Given the description of an element on the screen output the (x, y) to click on. 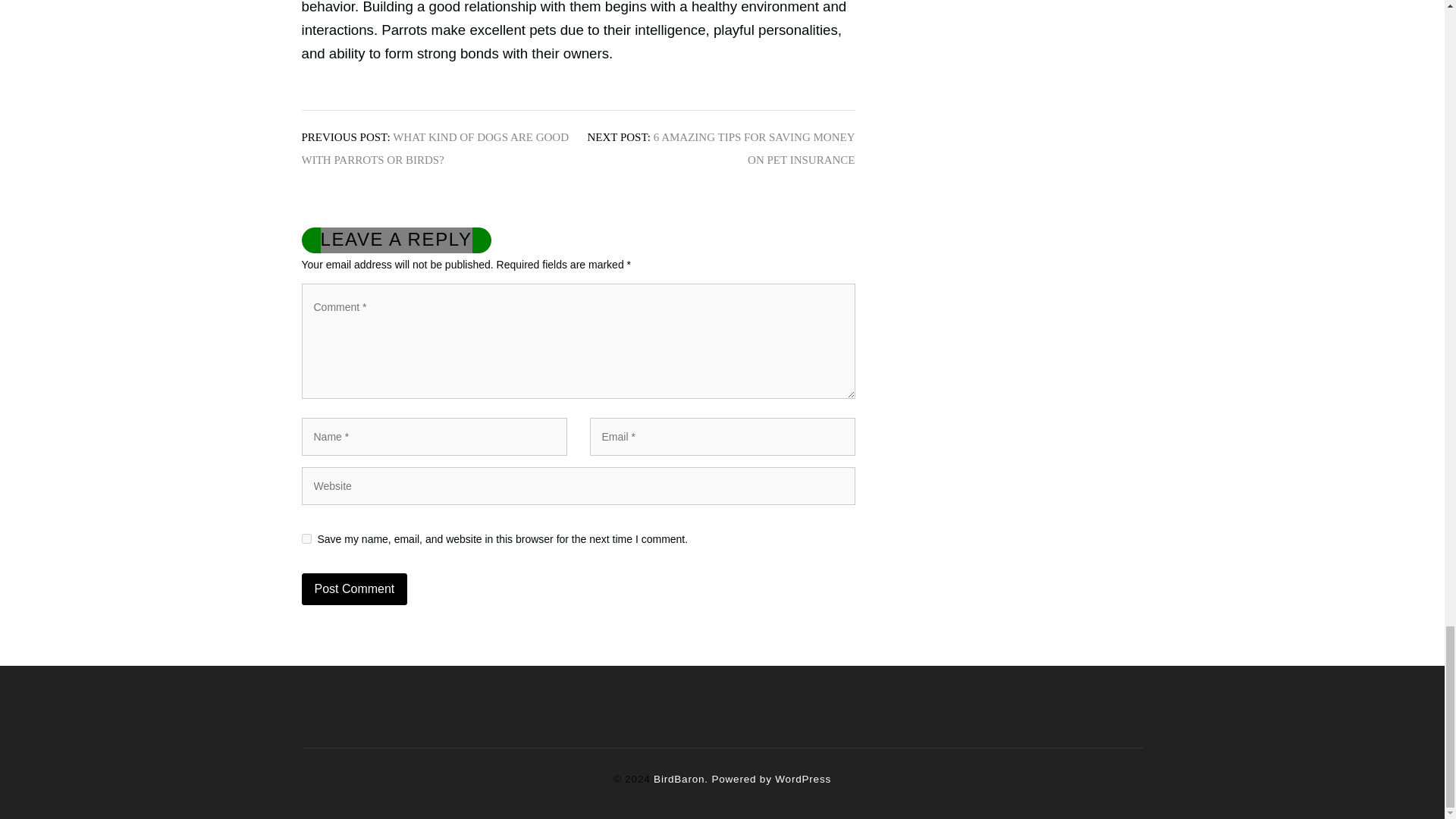
yes (306, 538)
Post Comment (354, 589)
NEXT POST: 6 AMAZING TIPS FOR SAVING MONEY ON PET INSURANCE (720, 148)
Post Comment (354, 589)
